Given the description of an element on the screen output the (x, y) to click on. 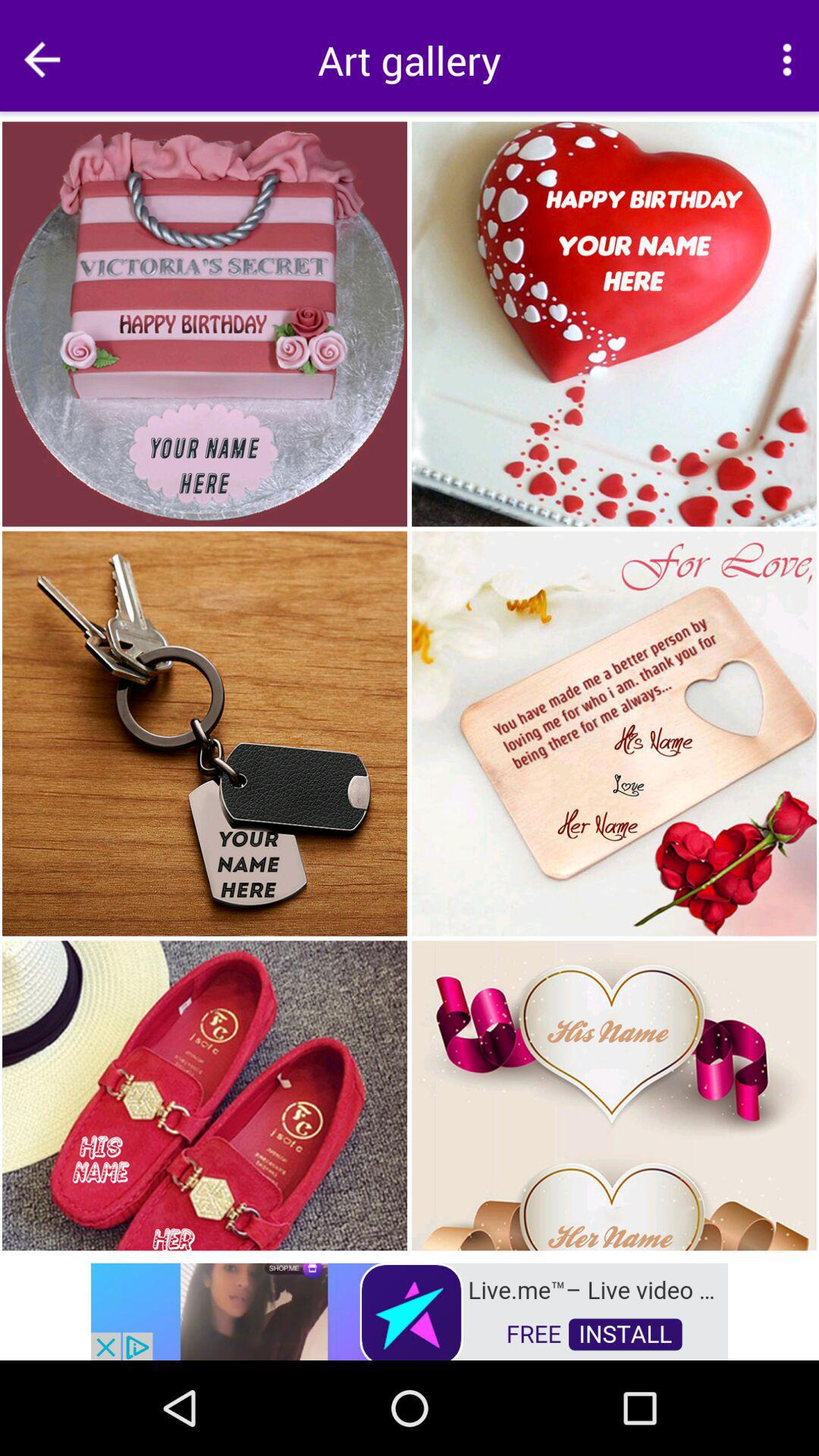
open (409, 1310)
